Given the description of an element on the screen output the (x, y) to click on. 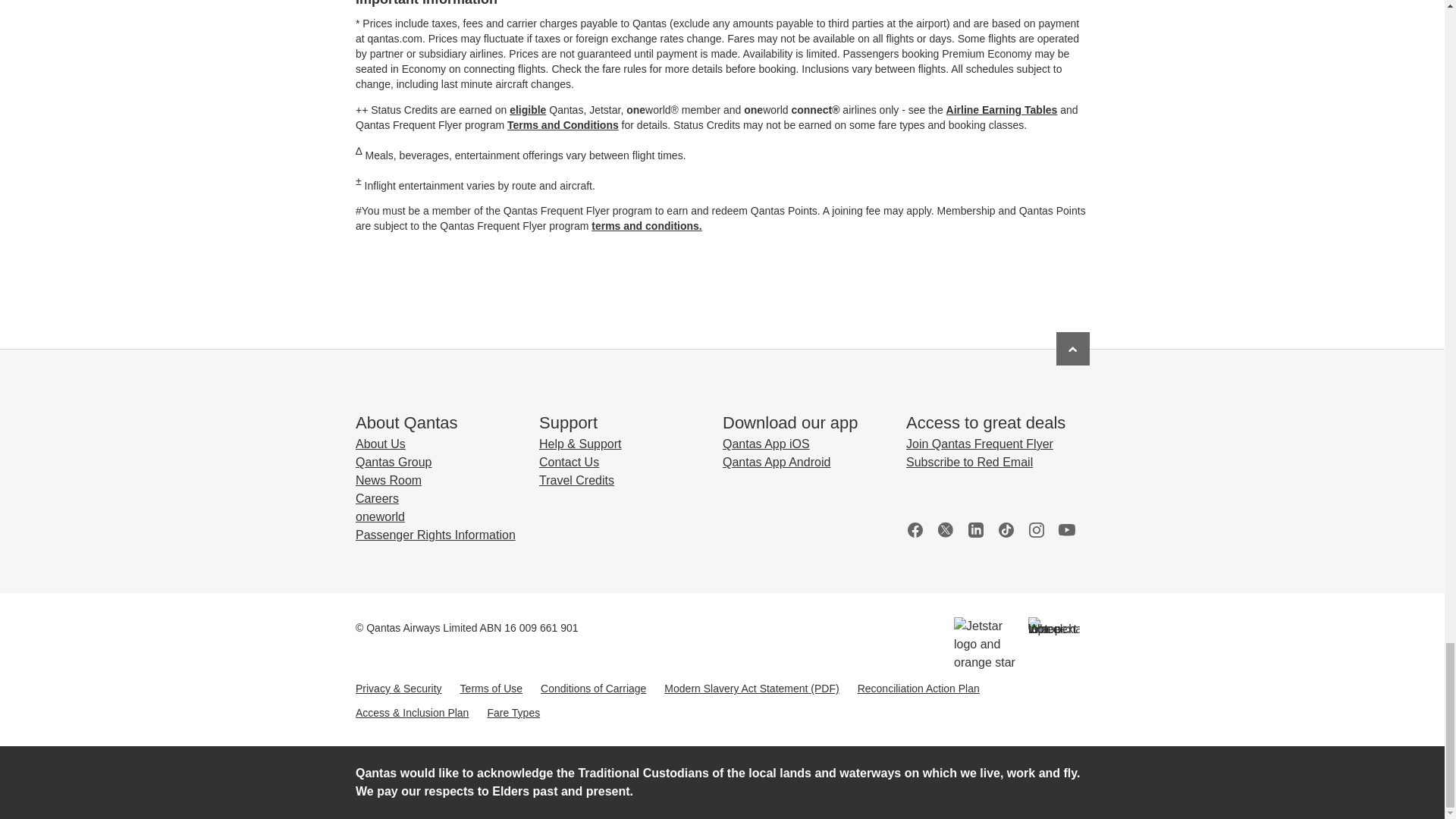
Twitter (944, 529)
Linkedin (975, 529)
eligible (527, 110)
Terms and Conditions (561, 124)
Airline Earning Tables (1000, 110)
Facebook (914, 529)
Tiktok (1004, 529)
